Given the description of an element on the screen output the (x, y) to click on. 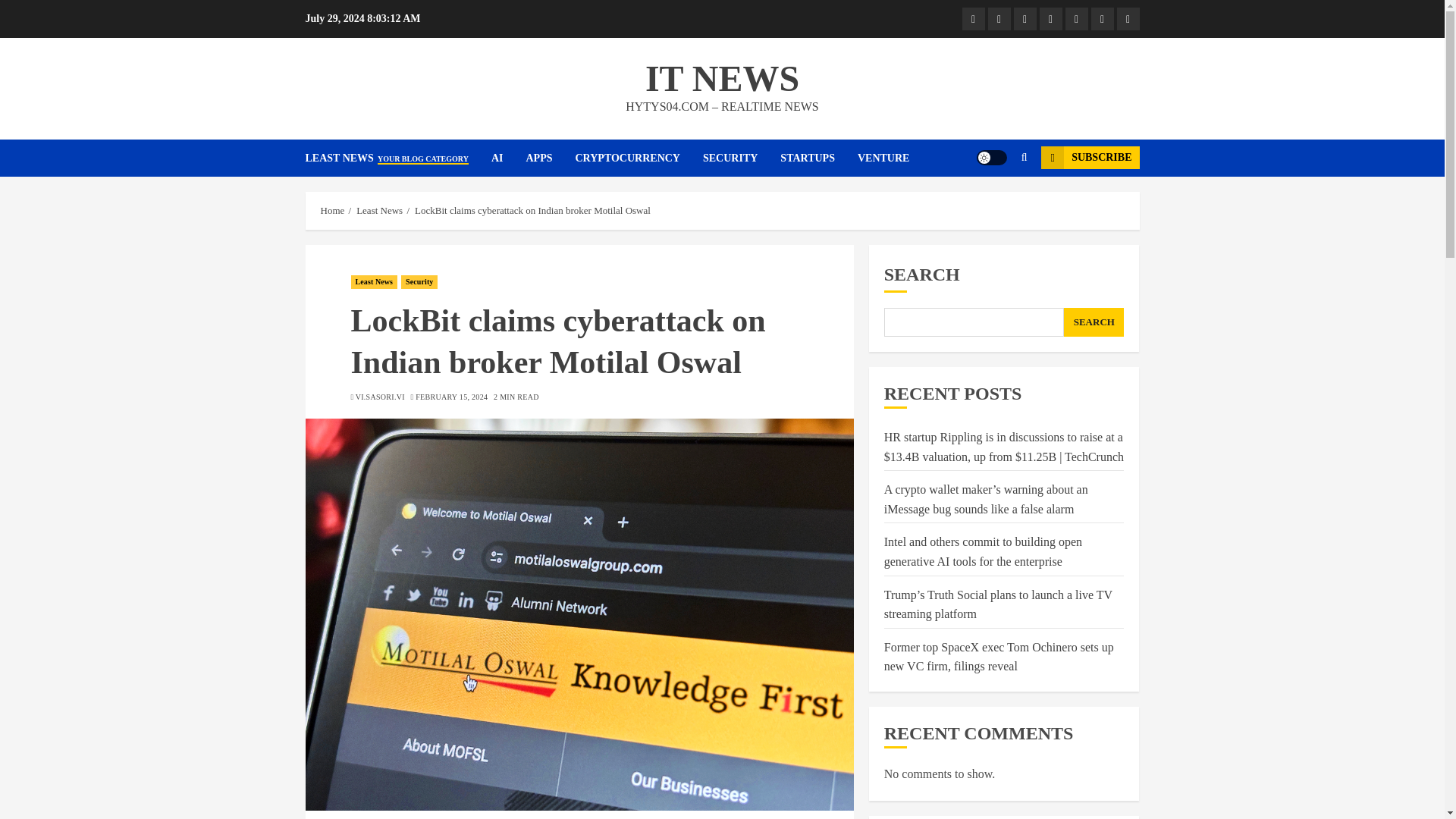
VI.SASORI.VI (379, 397)
LockBit claims cyberattack on Indian broker Motilal Oswal (532, 210)
SECURITY (741, 157)
Venture (1127, 18)
IT NEWS (722, 78)
FEBRUARY 15, 2024 (450, 397)
Security (1075, 18)
Security (419, 282)
AI (998, 18)
Least News (373, 282)
Least News (972, 18)
SUBSCRIBE (1089, 157)
Apps (1024, 18)
STARTUPS (818, 157)
AI (508, 157)
